Given the description of an element on the screen output the (x, y) to click on. 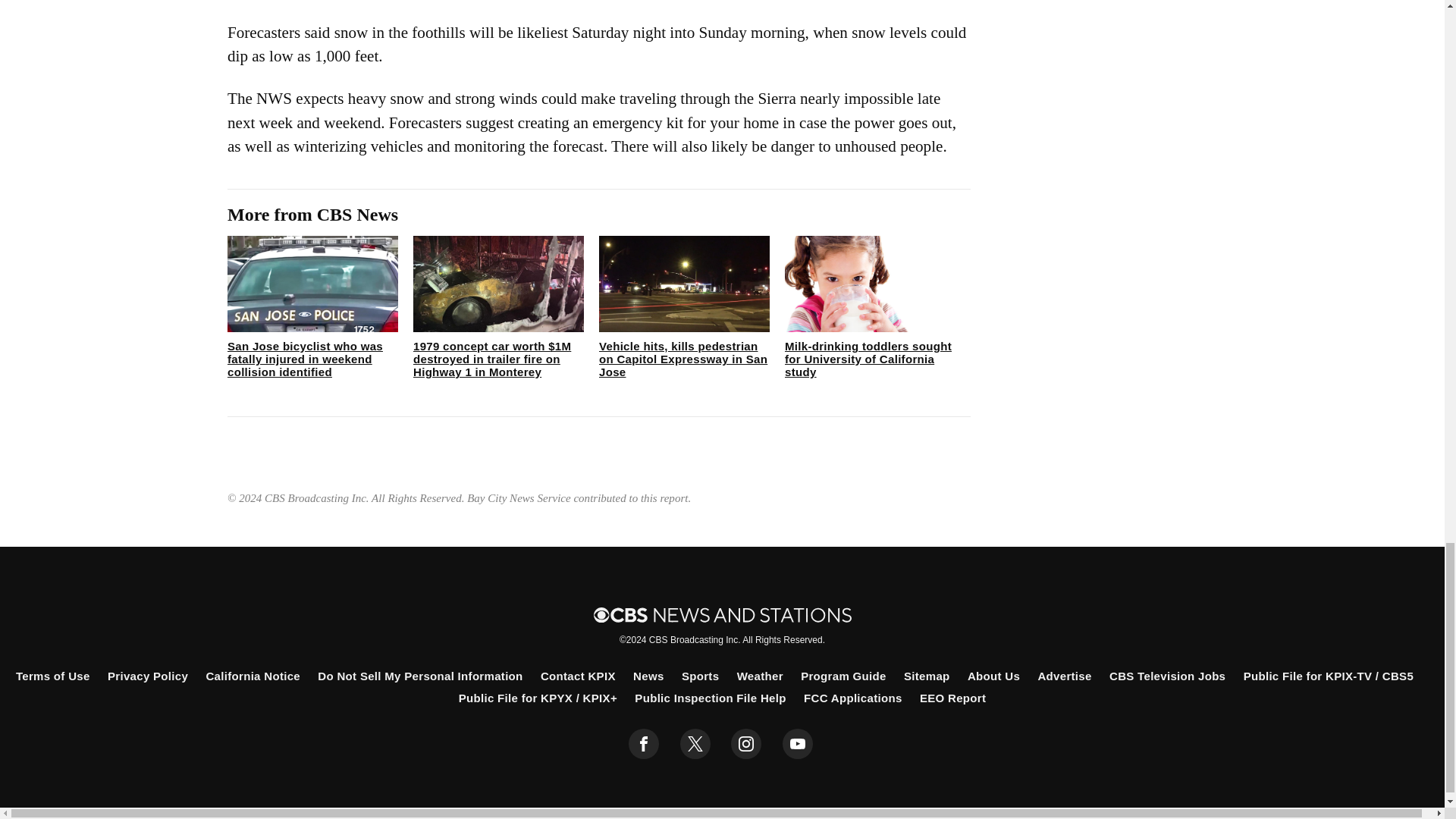
twitter (694, 743)
facebook (643, 743)
instagram (745, 743)
youtube (797, 743)
